Given the description of an element on the screen output the (x, y) to click on. 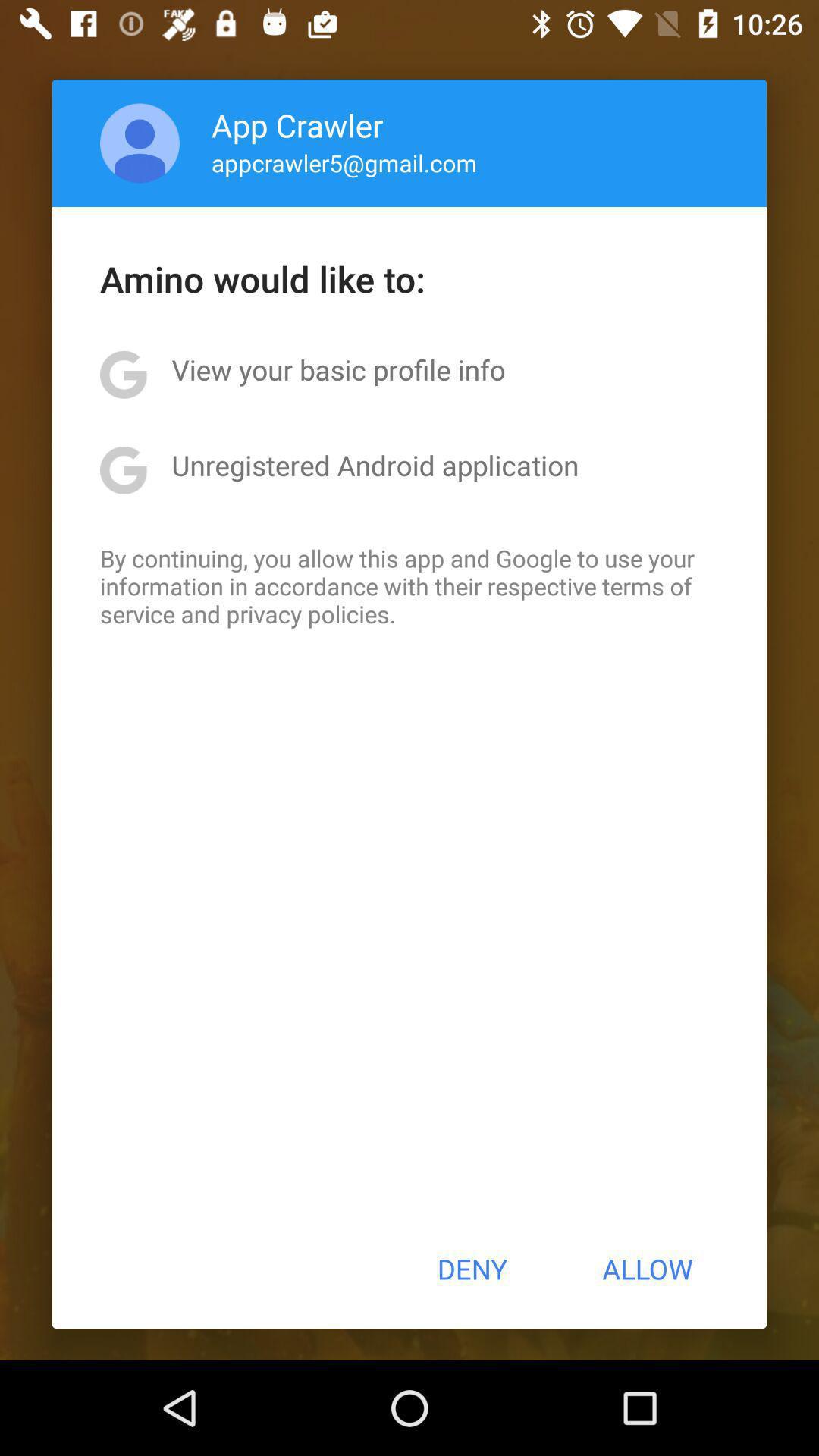
jump to appcrawler5@gmail.com (344, 162)
